Given the description of an element on the screen output the (x, y) to click on. 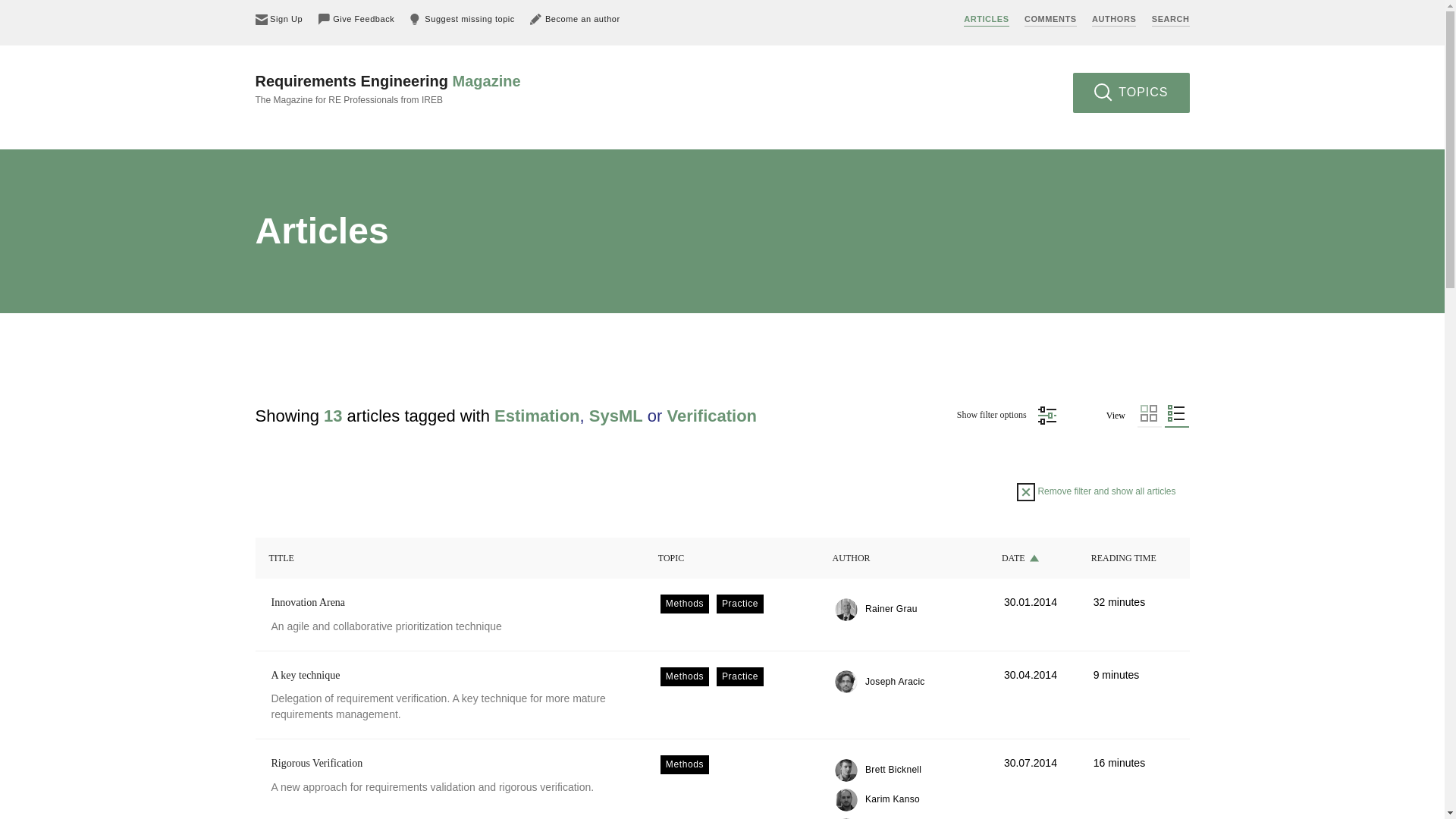
Give Feedback (356, 19)
Become an author (574, 19)
Suggest missing topic (462, 19)
Suggest missing topic (462, 19)
TOPICS (1131, 92)
Give Feedback (356, 19)
ARTICLES (986, 19)
AUTHORS (1113, 19)
Sign Up (278, 19)
SEARCH (1170, 19)
COMMENTS (1051, 19)
Become an author (574, 19)
Sign Up (278, 19)
